Given the description of an element on the screen output the (x, y) to click on. 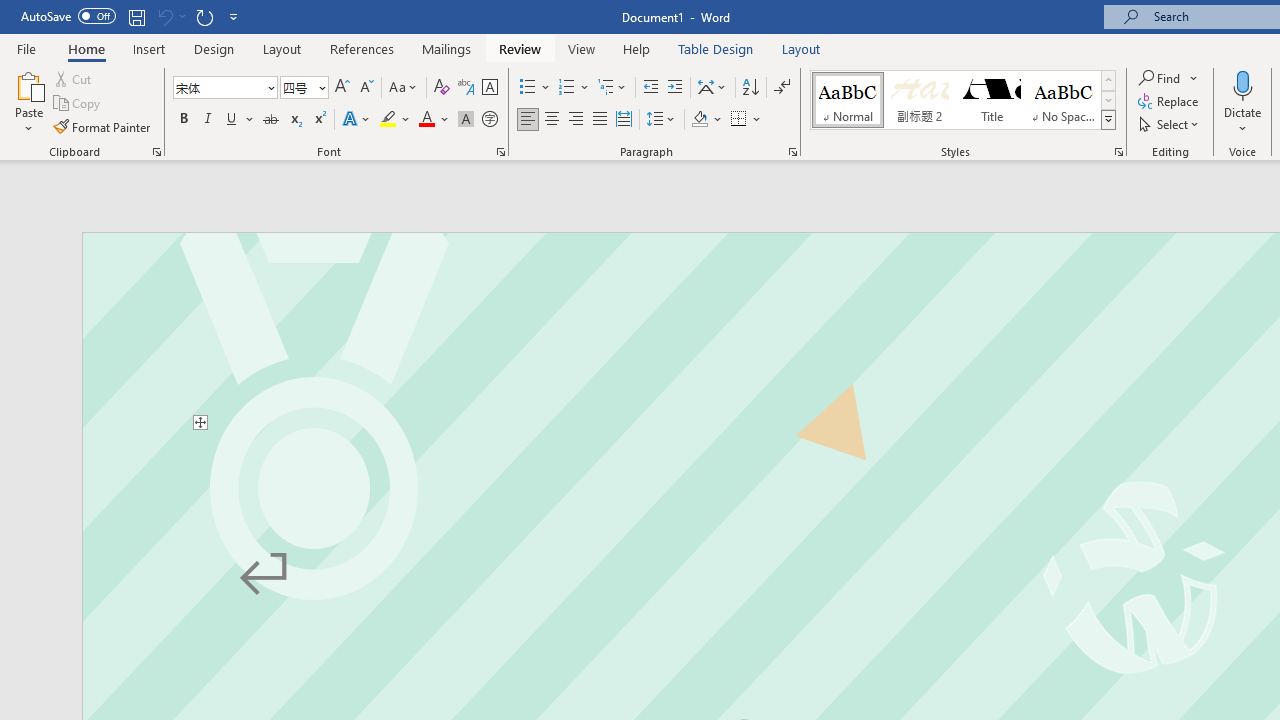
Font Color Red (426, 119)
Increase Indent (675, 87)
Center (552, 119)
Shading (706, 119)
Multilevel List (613, 87)
